Given the description of an element on the screen output the (x, y) to click on. 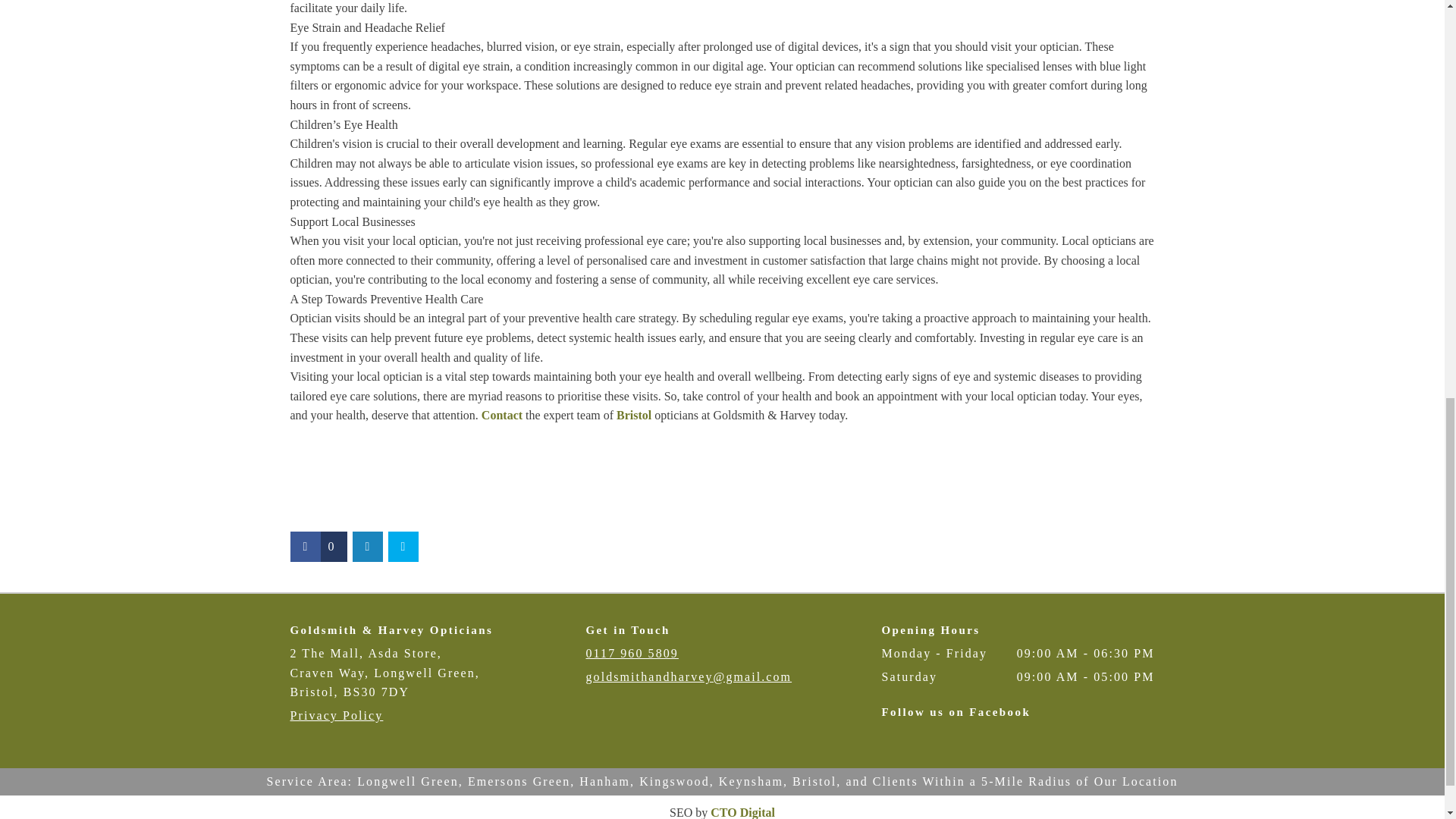
0117 960 5809 (631, 653)
Contact (501, 414)
Bristol (632, 414)
CTO Digital (742, 812)
0 (317, 546)
Privacy Policy (335, 715)
